Given the description of an element on the screen output the (x, y) to click on. 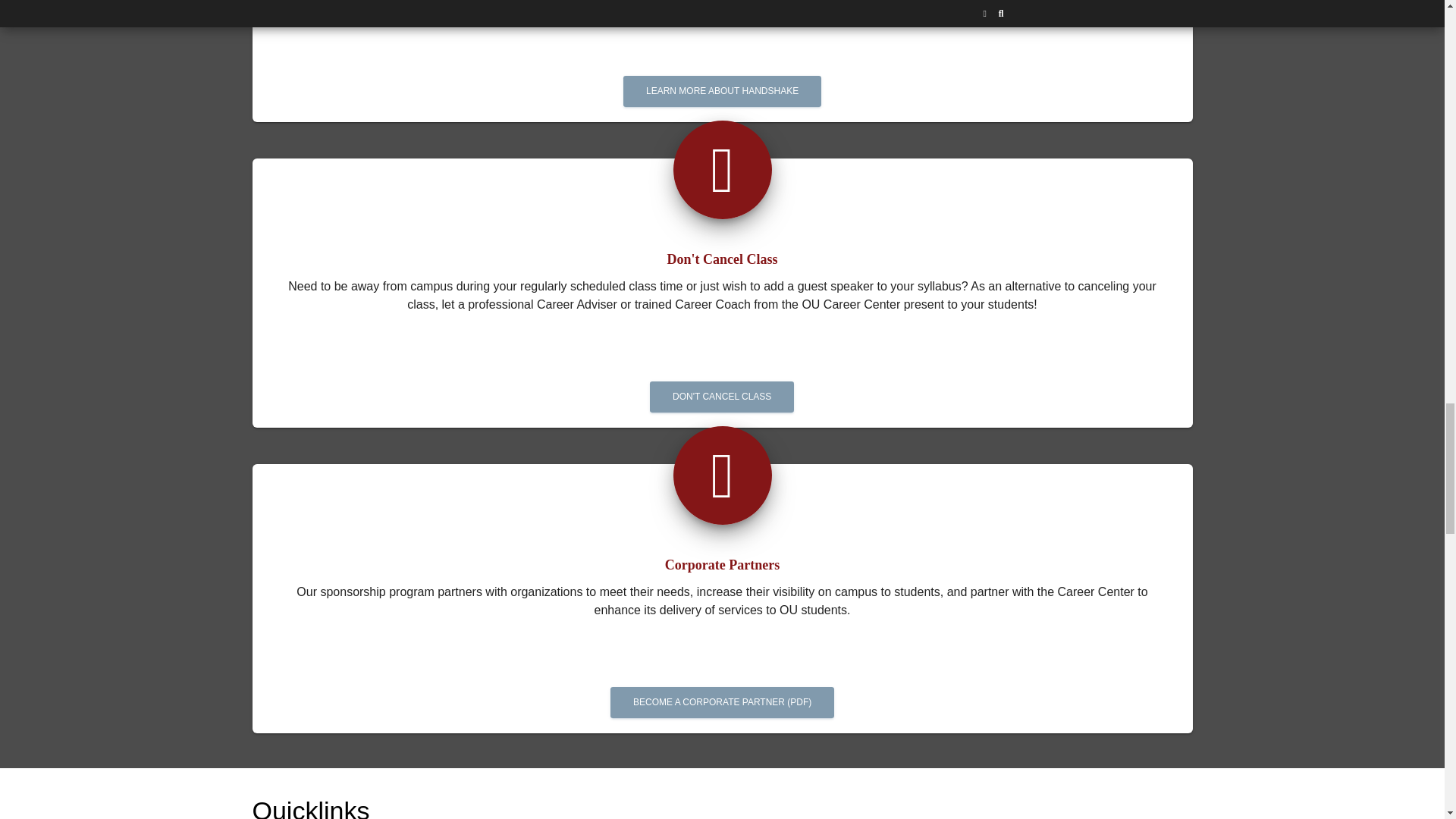
DON'T CANCEL CLASS (721, 396)
DON'T CANCEL CLASS (721, 380)
LEARN MORE ABOUT HANDSHAKE (722, 91)
LEARN MORE ABOUT HANDSHAKE (722, 74)
